Given the description of an element on the screen output the (x, y) to click on. 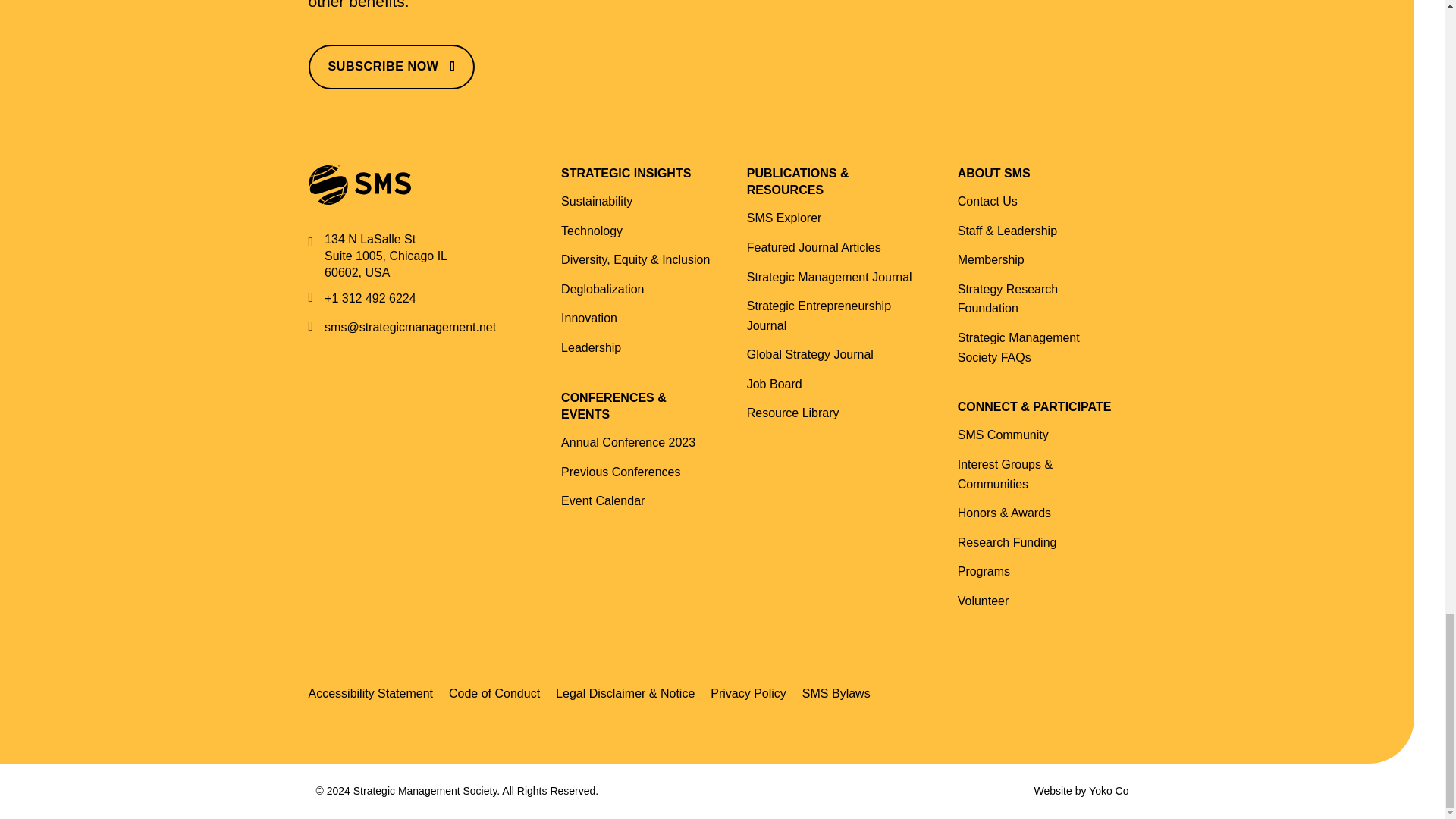
black-logo-sms (358, 184)
